Given the description of an element on the screen output the (x, y) to click on. 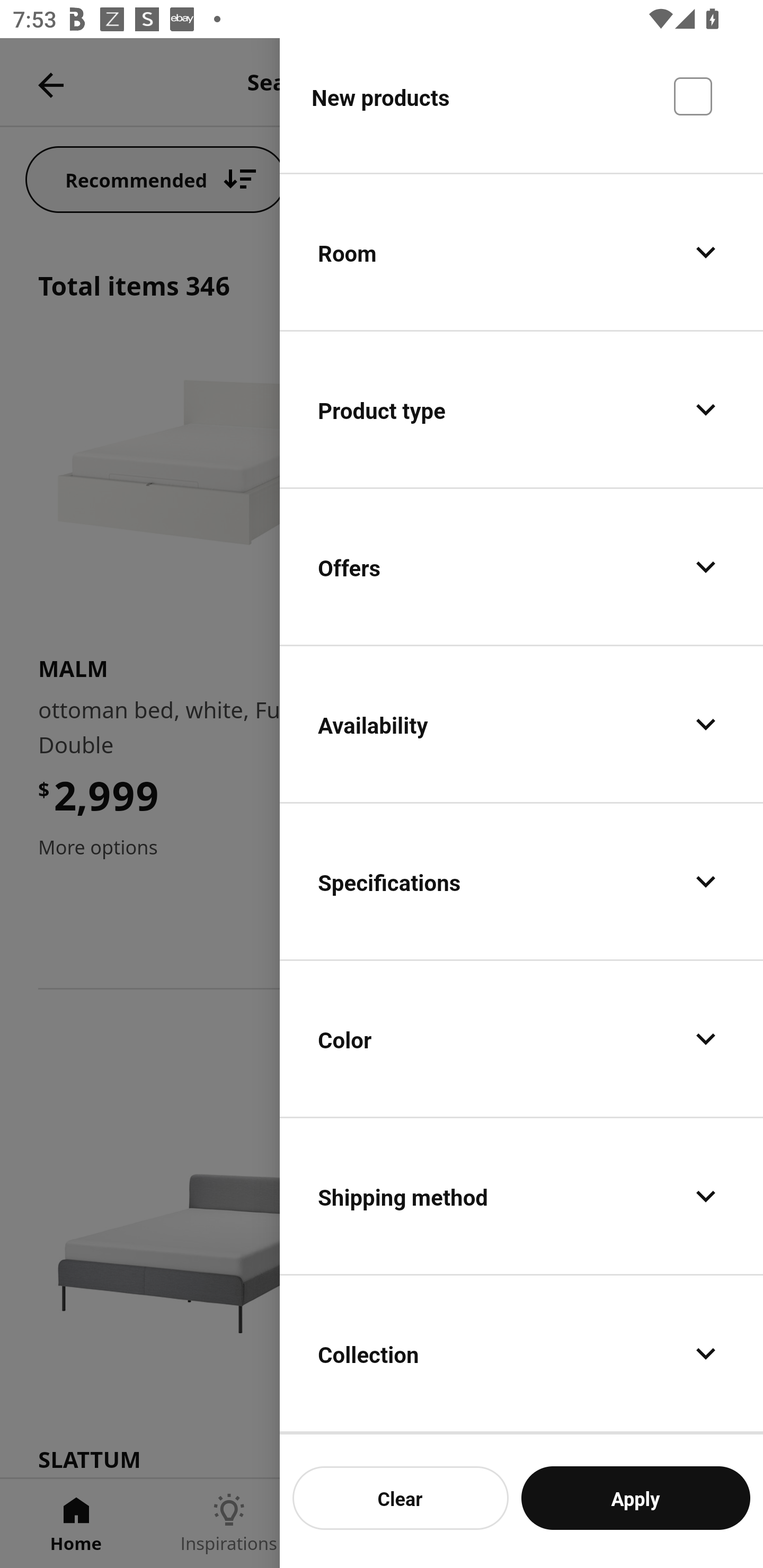
New products (521, 104)
Room (521, 251)
Product type (521, 409)
Offers (521, 566)
Availability (521, 723)
Specifications (521, 881)
Color (521, 1038)
Shipping method (521, 1195)
Collection (521, 1353)
Clear (400, 1498)
Apply (635, 1498)
